Given the description of an element on the screen output the (x, y) to click on. 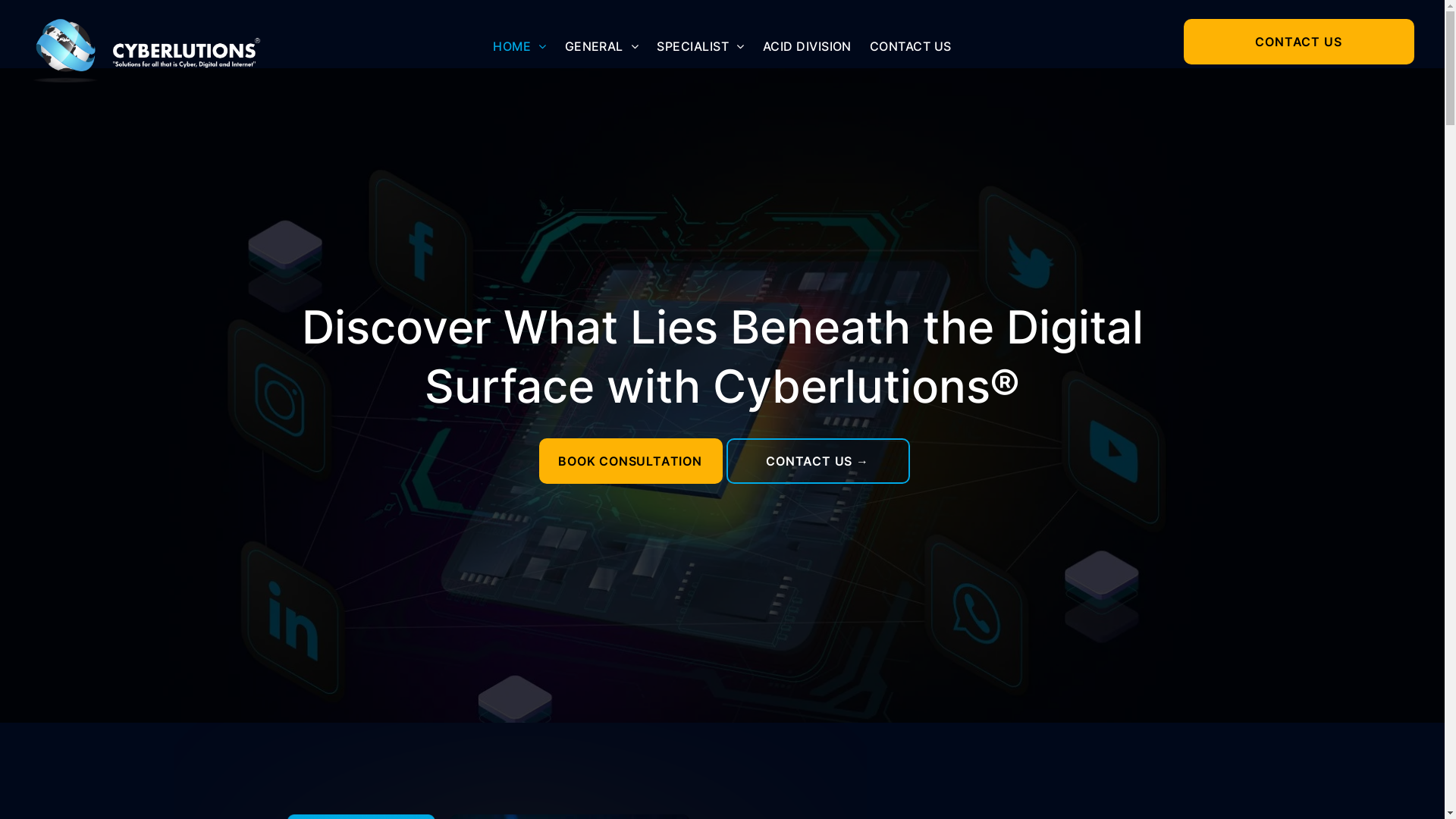
ACID DIVISION Element type: text (806, 46)
GENERAL Element type: text (601, 46)
CONTACT US Element type: text (1298, 41)
BOOK CONSULTATION Element type: text (629, 460)
CONTACT US Element type: text (910, 46)
HOME Element type: text (519, 46)
SPECIALIST Element type: text (700, 46)
